Given the description of an element on the screen output the (x, y) to click on. 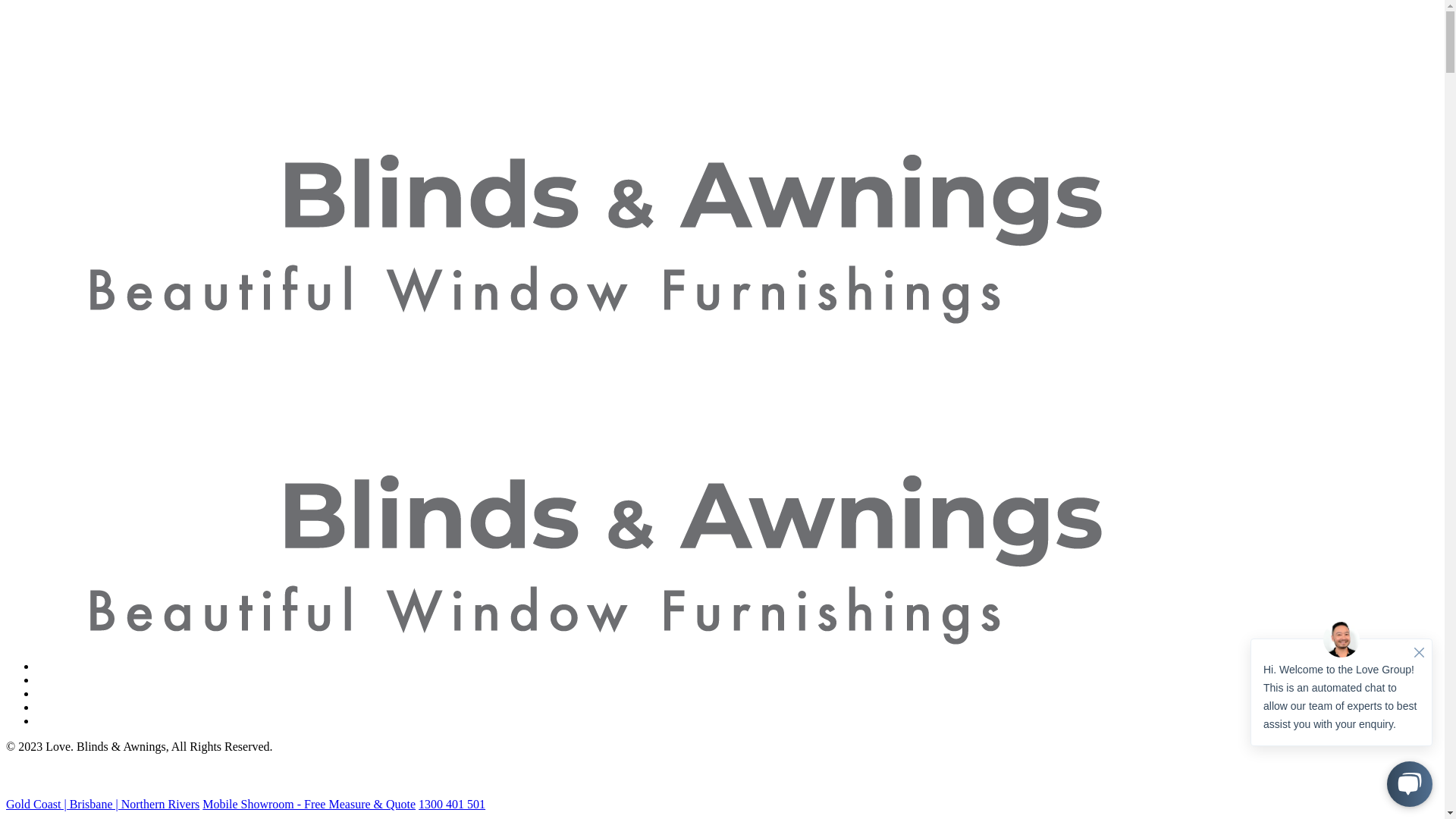
Mobile Showroom - Free Measure & Quote Element type: text (308, 803)
Beautiful Window Furnishings Element type: hover (553, 164)
Beautiful Window Furnishings Element type: hover (553, 485)
1300 401 501 Element type: text (451, 803)
Gold Coast | Brisbane | Northern Rivers Element type: text (102, 803)
